Given the description of an element on the screen output the (x, y) to click on. 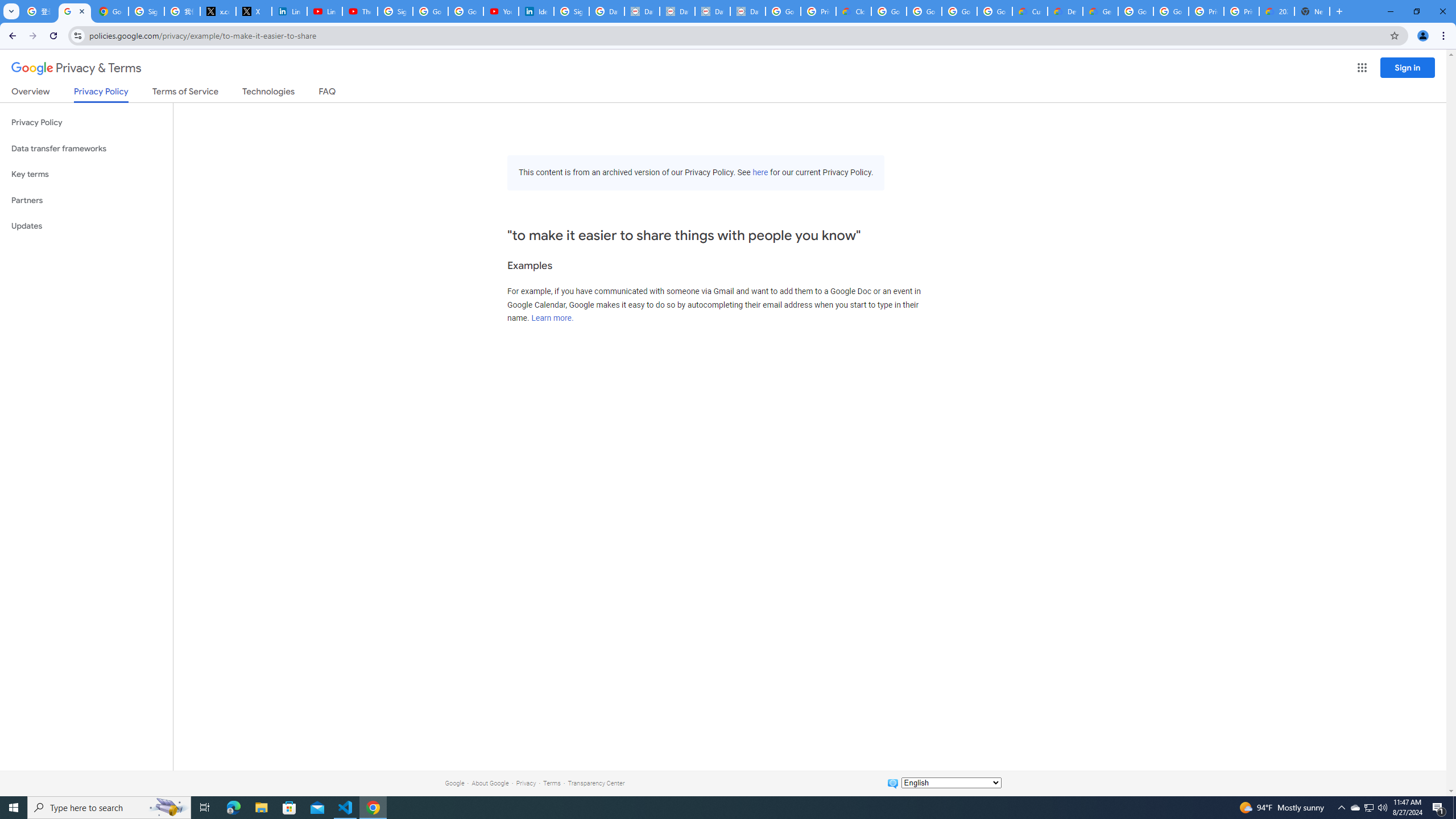
Sign in - Google Accounts (394, 11)
Cloud Data Processing Addendum | Google Cloud (853, 11)
Google Cloud Platform (1135, 11)
Gemini for Business and Developers | Google Cloud (1099, 11)
New Tab (1312, 11)
LinkedIn Privacy Policy (288, 11)
About Google (490, 783)
